Given the description of an element on the screen output the (x, y) to click on. 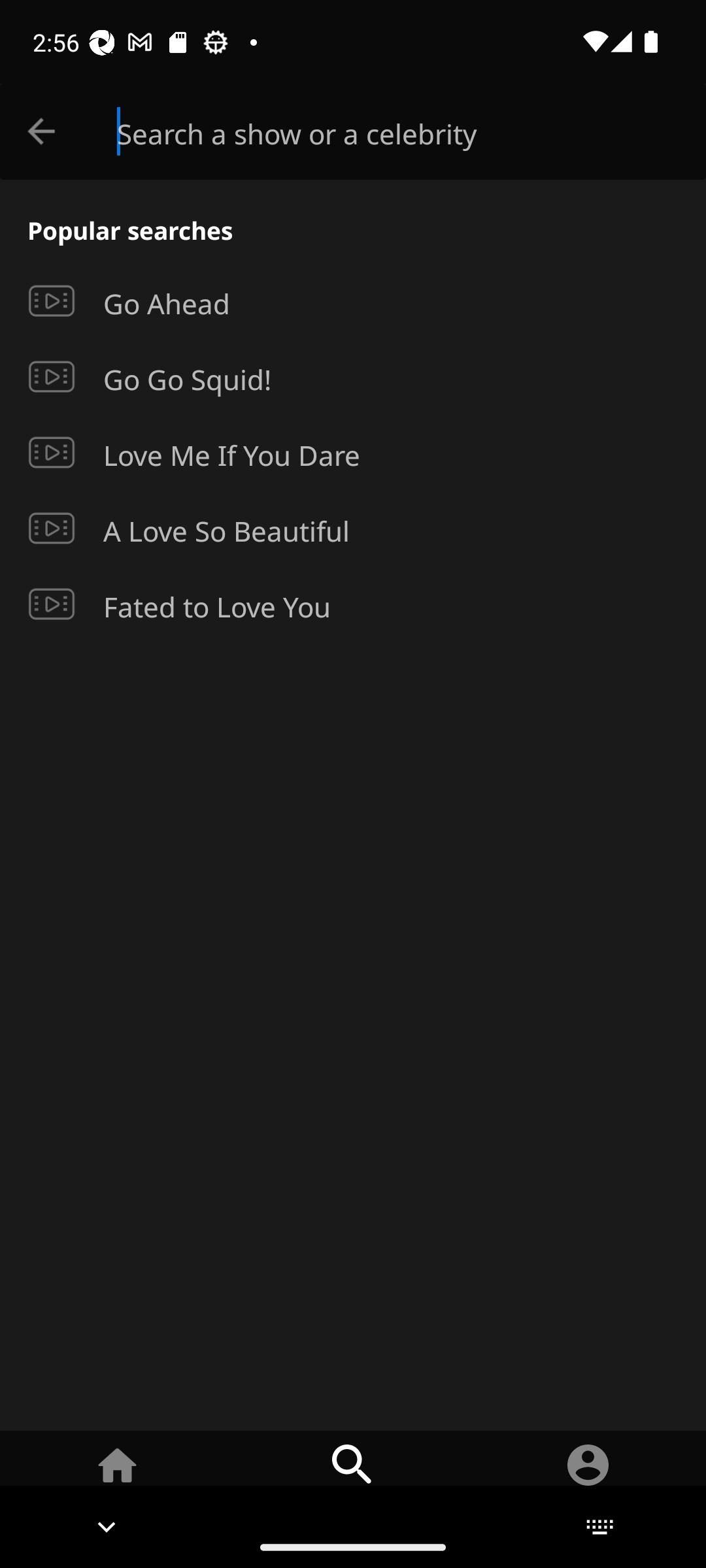
Search a show or a celebrity (411, 131)
Go Ahead (353, 300)
Go Go Squid! (353, 376)
Love Me If You Dare (353, 452)
A Love So Beautiful (353, 528)
Fated to Love You (353, 604)
Home (117, 1478)
Me (588, 1478)
